Given the description of an element on the screen output the (x, y) to click on. 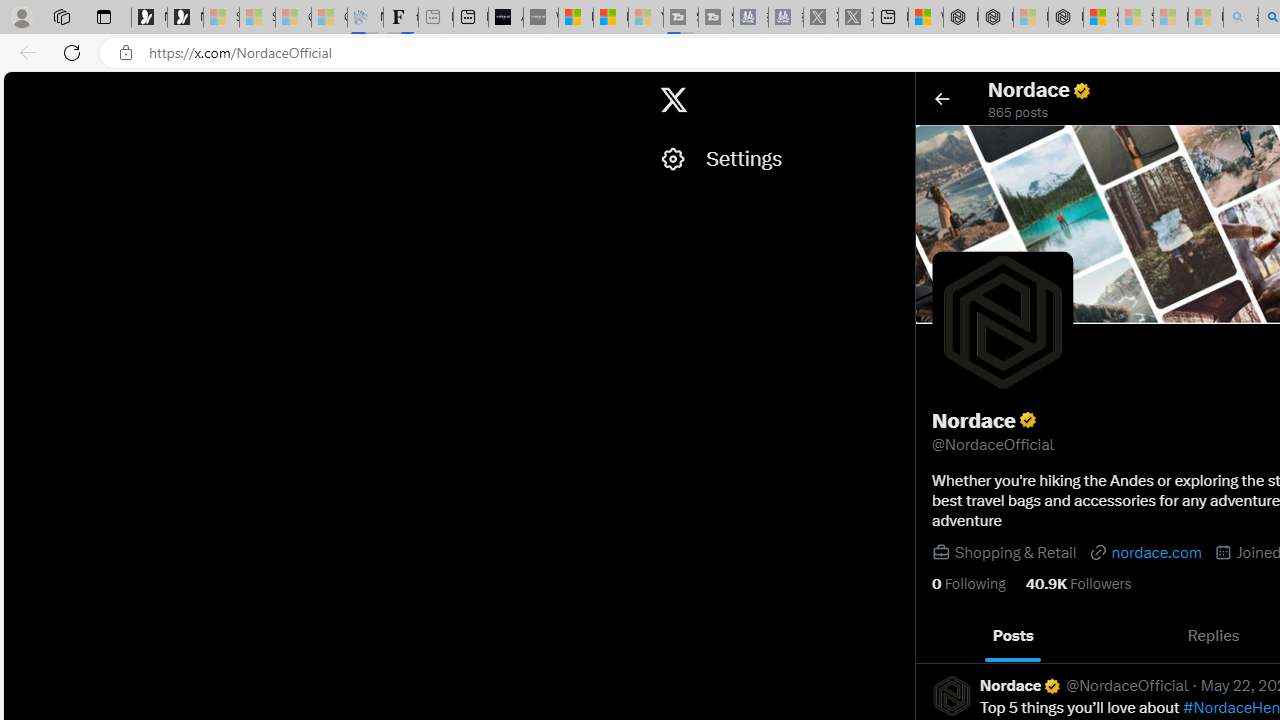
@NordaceOfficial (1127, 685)
Skip to trending (21, 90)
What's the best AI voice generator? - voice.ai - Sleeping (540, 17)
40.9K Followers (1078, 583)
